Given the description of an element on the screen output the (x, y) to click on. 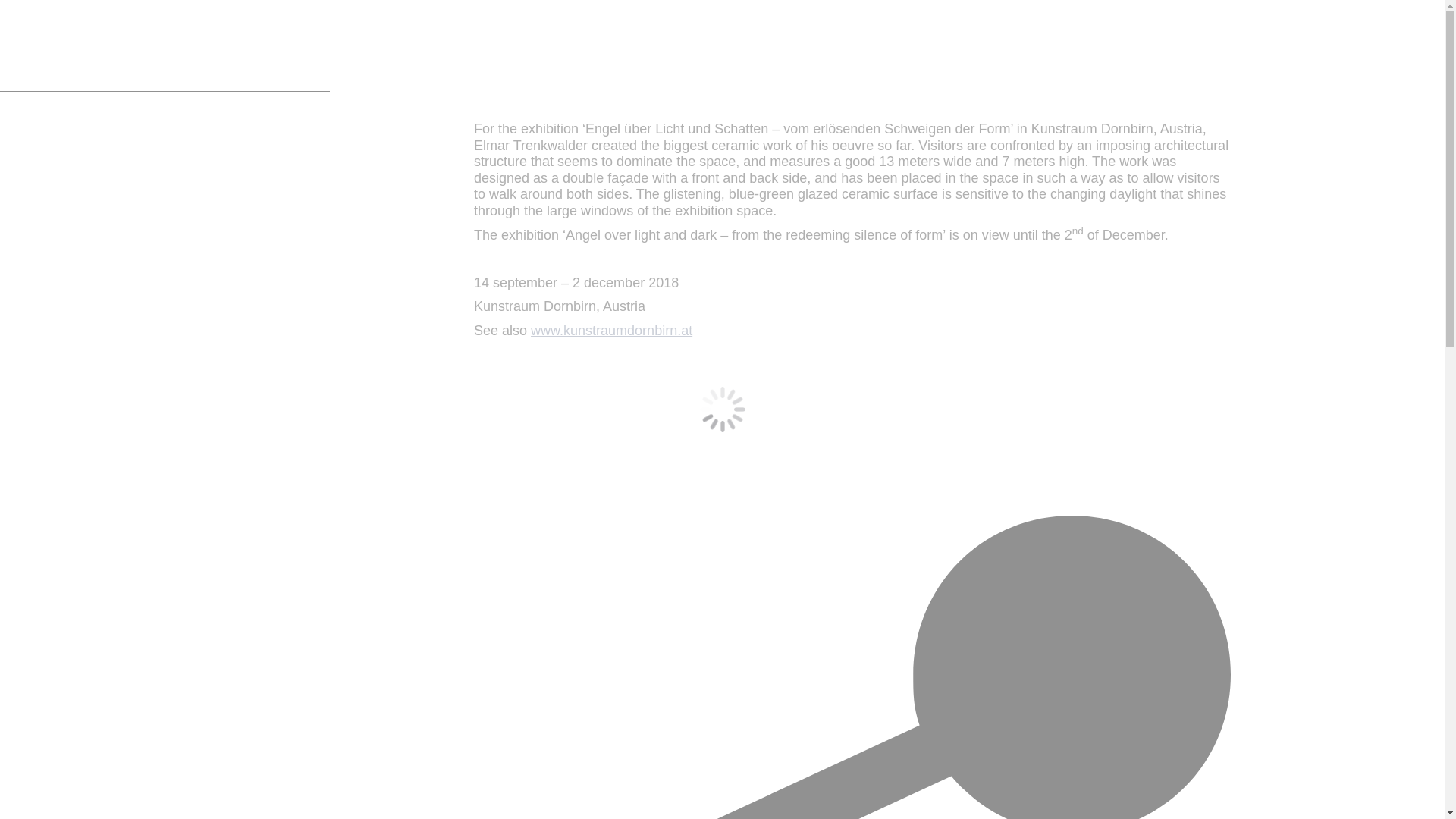
Elmar-Trenkwalder-kunstraum-dornbirn-2018-detail (327, 375)
Elmar-Trenkwalder-kunstraum-dornbirn-2018-overview (327, 196)
Go! (24, 17)
www.kunstraumdornbirn.at (612, 330)
